Given the description of an element on the screen output the (x, y) to click on. 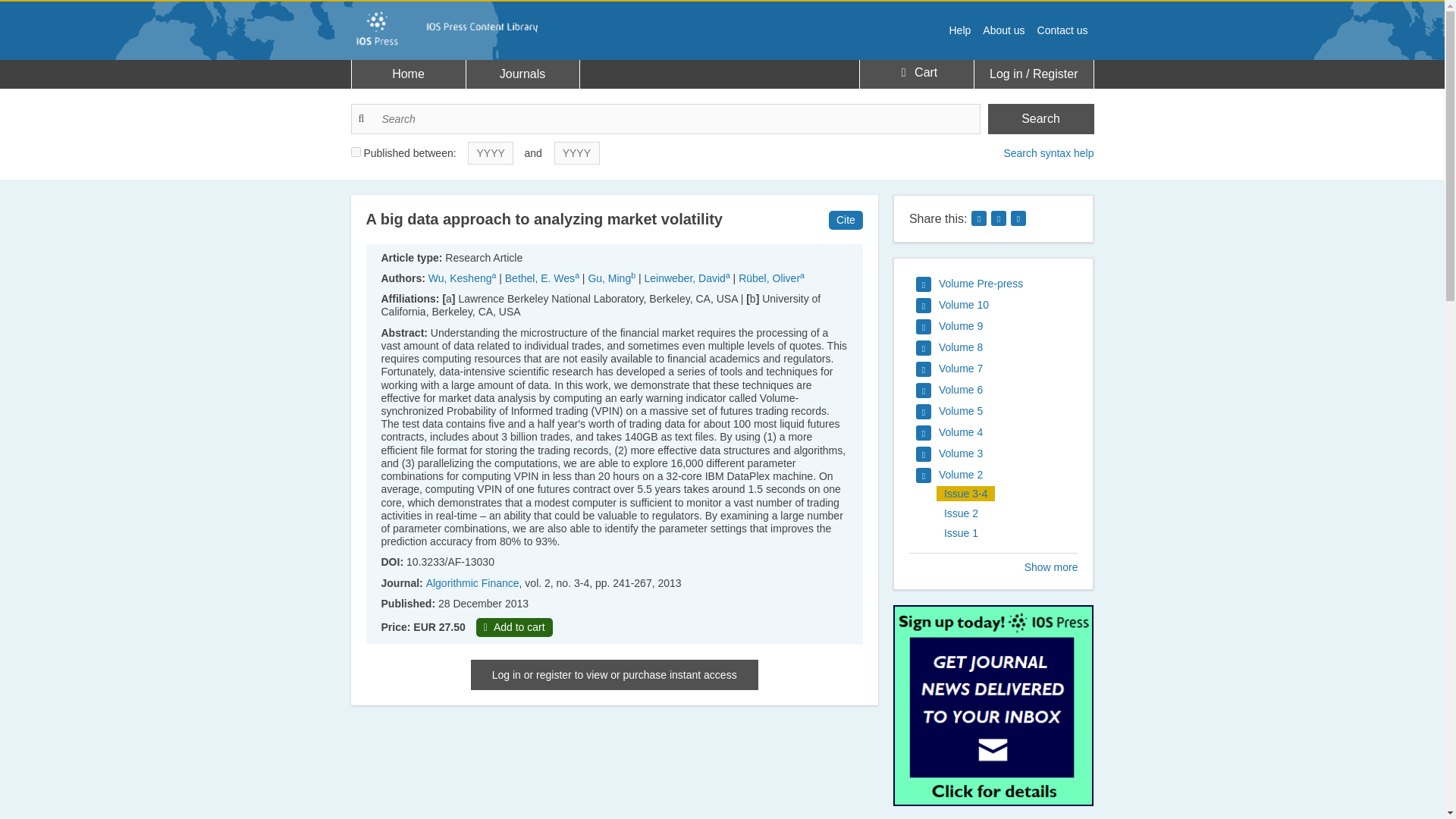
About us (1003, 30)
Press to access issues within this volume (951, 305)
Press to access issues within this volume (949, 326)
Press to access issues within this volume (949, 453)
Press to access issues within this volume (949, 433)
Press to access issues within this volume (949, 347)
Cart (916, 72)
on (354, 152)
Press to access issues within this volume (969, 284)
Home (408, 73)
Help (960, 30)
Press to access issues within this volume (949, 411)
Journals (522, 73)
Cite (845, 220)
Search syntax help (1048, 152)
